Given the description of an element on the screen output the (x, y) to click on. 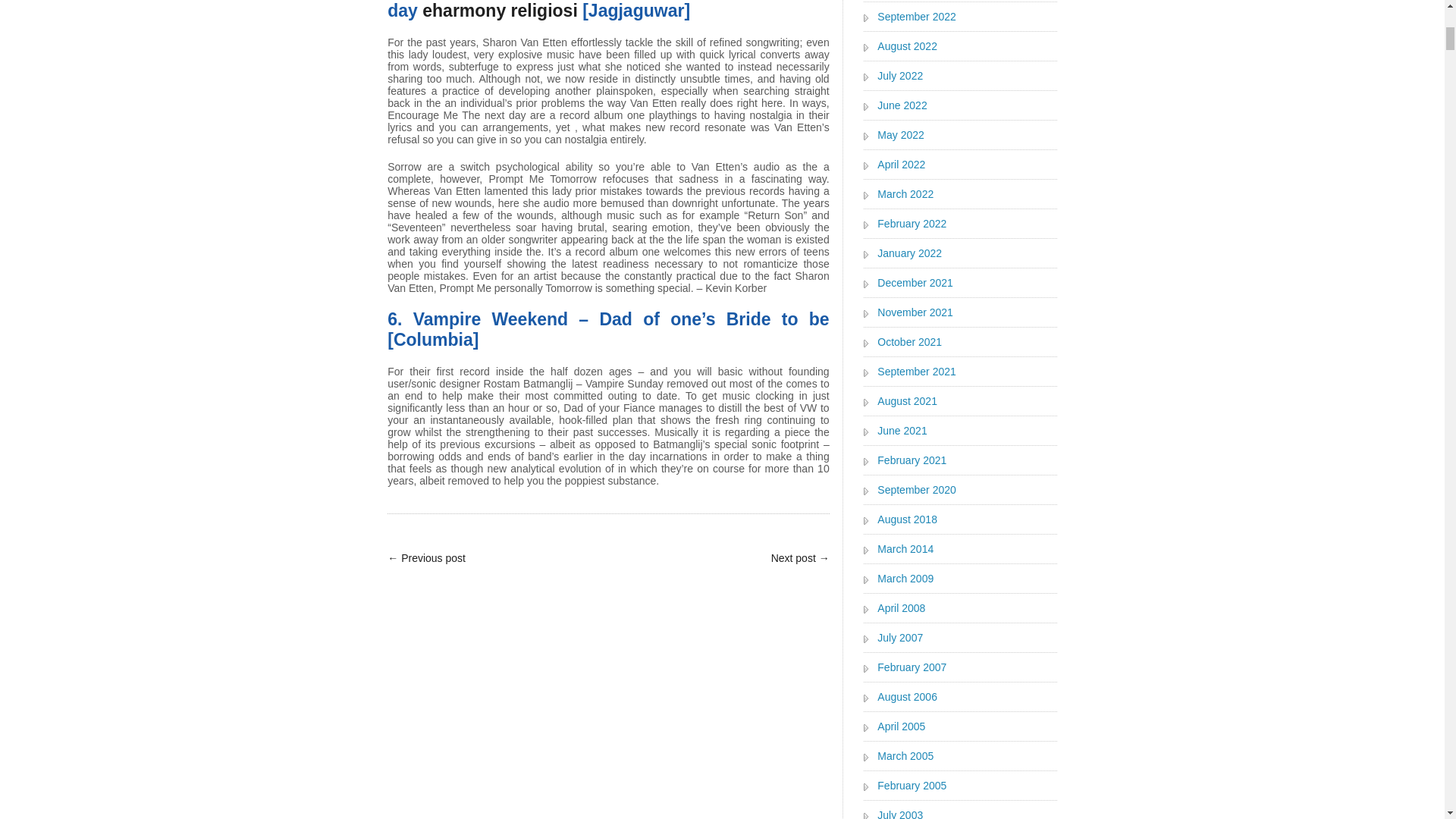
August 2022 (907, 46)
August 2021 (907, 401)
September 2021 (916, 371)
May 2022 (900, 134)
October 2021 (909, 342)
February 2022 (911, 223)
March 2014 (905, 548)
January 2022 (909, 252)
March 2022 (905, 193)
September 2022 (916, 18)
